Given the description of an element on the screen output the (x, y) to click on. 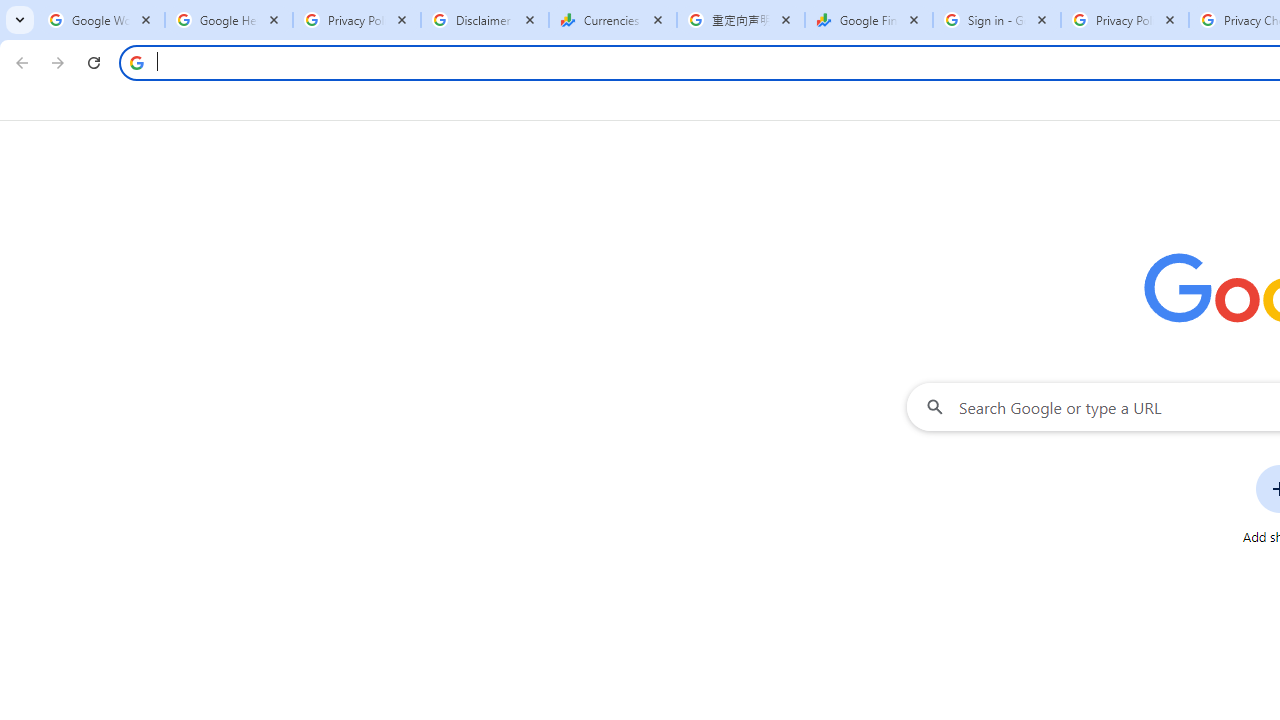
Google Workspace Admin Community (101, 20)
Currencies - Google Finance (613, 20)
Sign in - Google Accounts (997, 20)
